Given the description of an element on the screen output the (x, y) to click on. 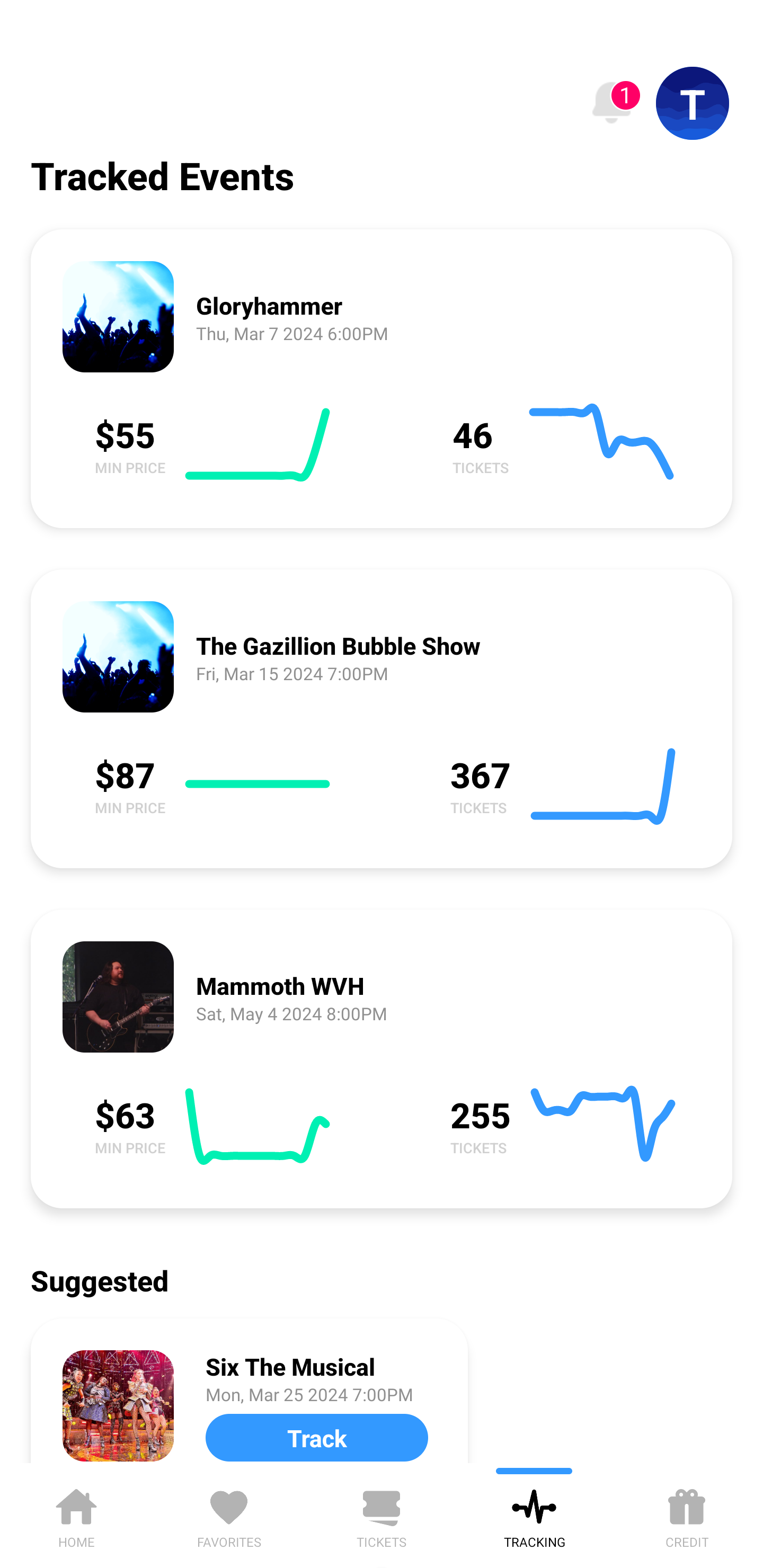
T (692, 103)
1 (611, 103)
Track (316, 1437)
HOME (76, 1515)
FAVORITES (228, 1515)
TICKETS (381, 1515)
TRACKING (533, 1515)
CREDIT (686, 1515)
